Given the description of an element on the screen output the (x, y) to click on. 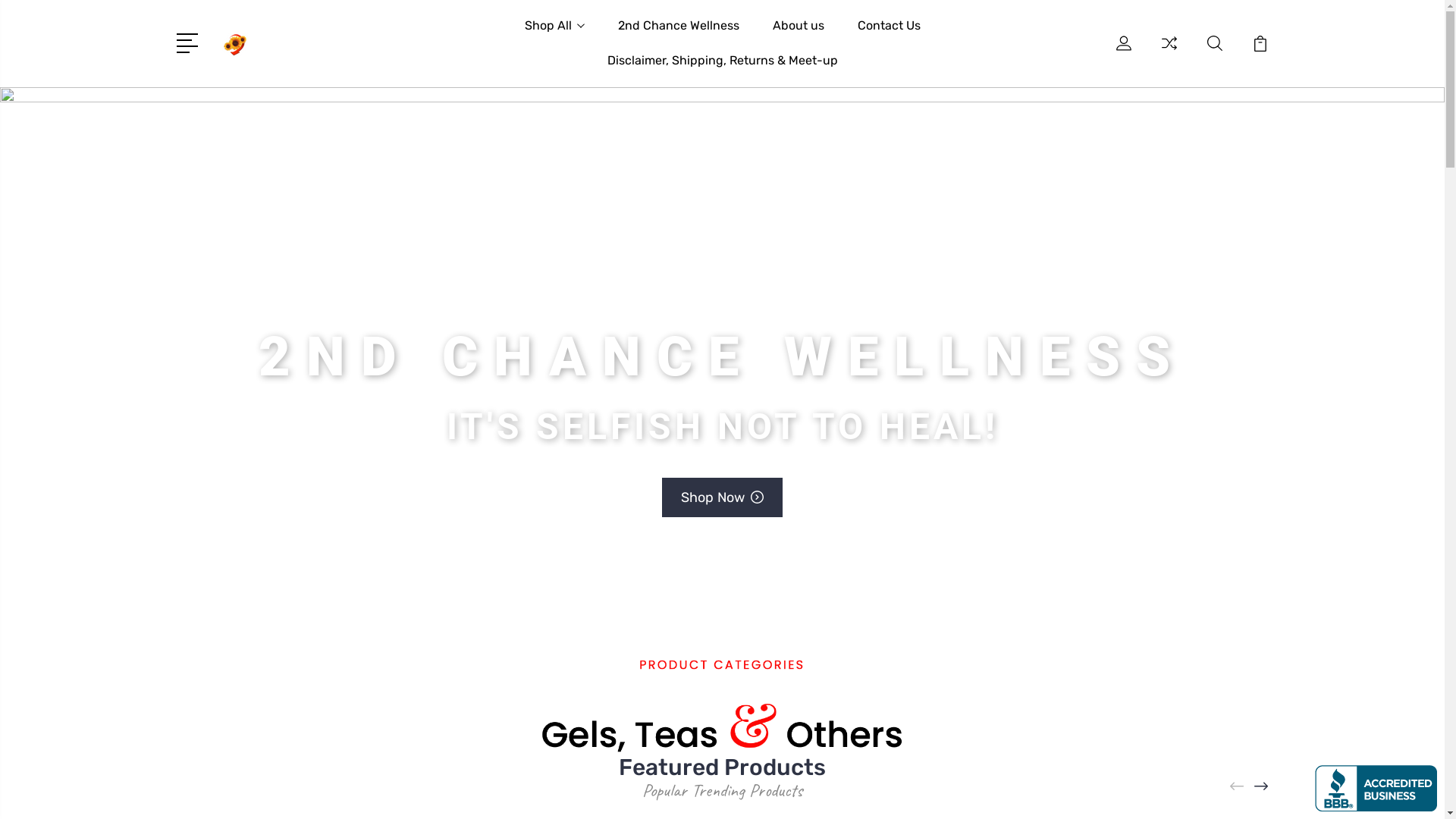
Disclaimer, Shipping, Returns & Meet-up Element type: text (721, 69)
2ND CHANCE WELLNESS
IT'S SELFISH NOT TO HEAL!
Shop Now Element type: text (722, 350)
2nd Chance Wellness Element type: hover (234, 43)
About us Element type: text (797, 34)
Verify 2nd Chance Wellness, LLC Element type: hover (1375, 788)
Compare Element type: hover (1168, 51)
Contact Us Element type: text (887, 34)
2nd Chance Wellness Element type: text (677, 34)
Shop All Element type: text (554, 34)
